Given the description of an element on the screen output the (x, y) to click on. 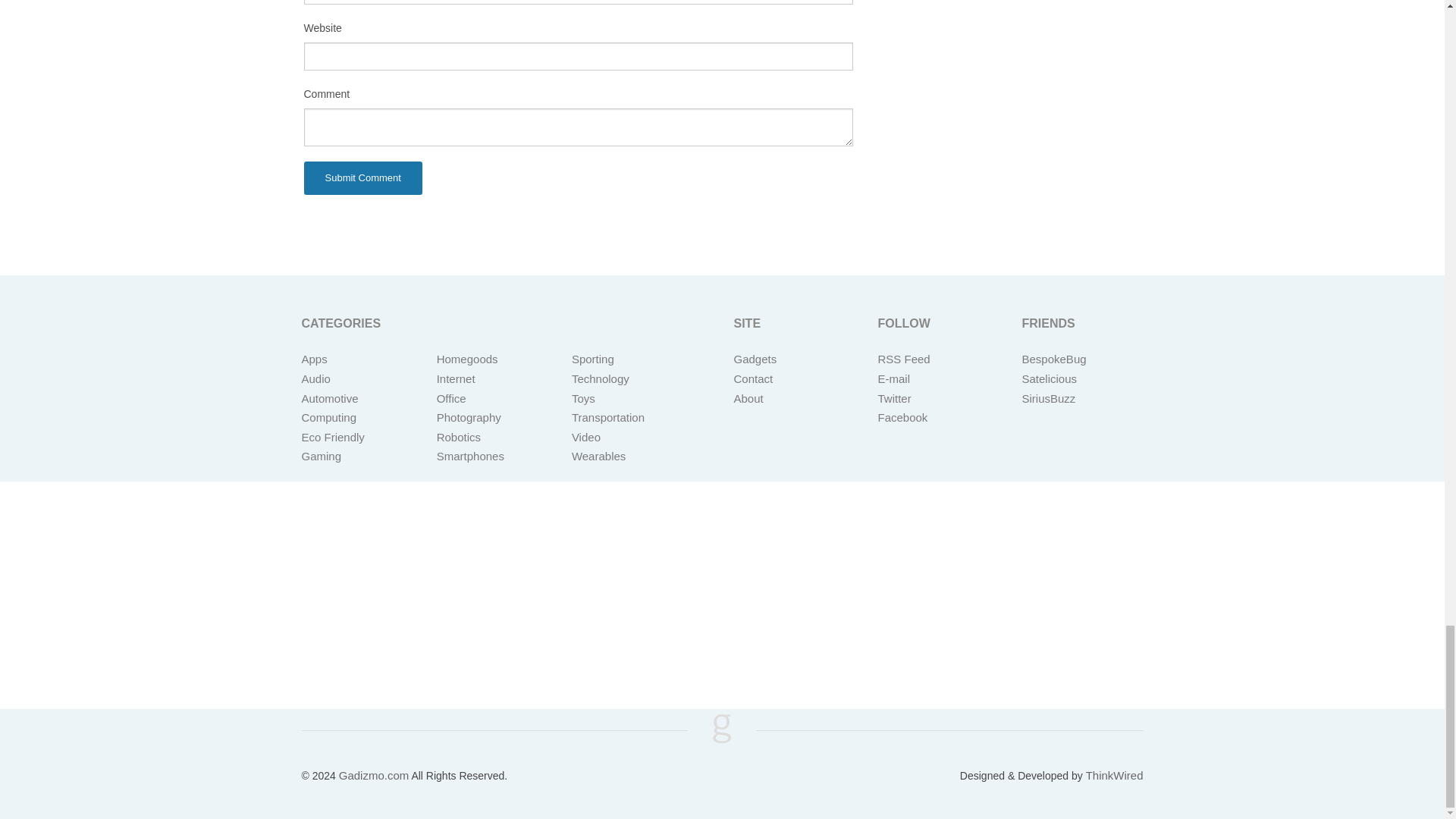
Submit Comment (362, 177)
